Given the description of an element on the screen output the (x, y) to click on. 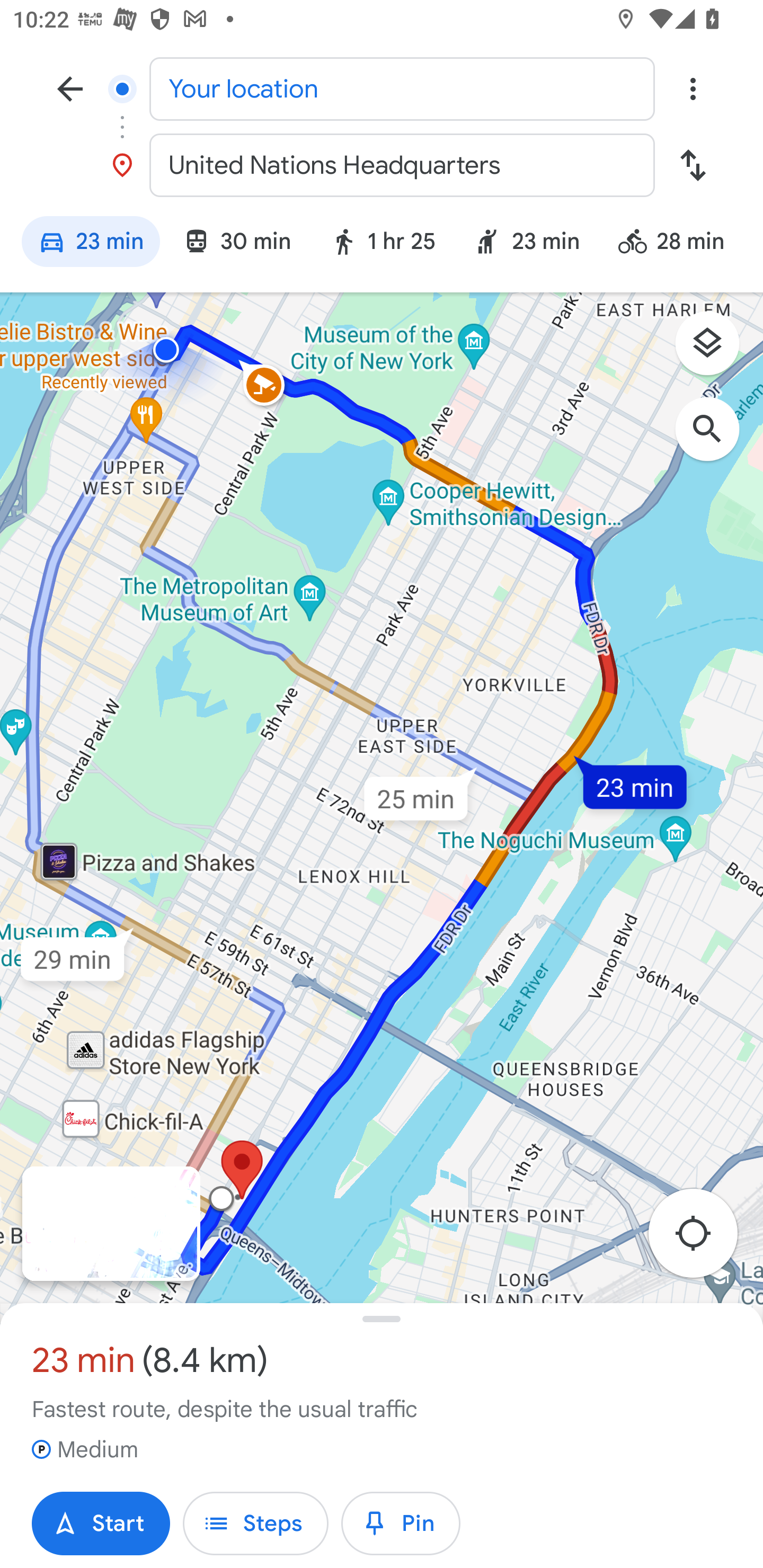
Navigate up (70, 88)
Your location Start location, Your location (381, 88)
Overflow menu (692, 88)
Swap start and destination (692, 165)
Transit mode: 30 min 30 min (236, 244)
Walking mode: 1 hr 25 1 hr 25 (382, 244)
Ride service: 23 min 23 min (526, 244)
Bicycling mode: 28 min 28 min (678, 244)
Layers (716, 349)
Search along route (716, 438)
Open Immersive View for routes (110, 1223)
Re-center map to your location (702, 1238)
Steps Steps Steps (255, 1522)
Pin trip Pin Pin trip (400, 1522)
